Given the description of an element on the screen output the (x, y) to click on. 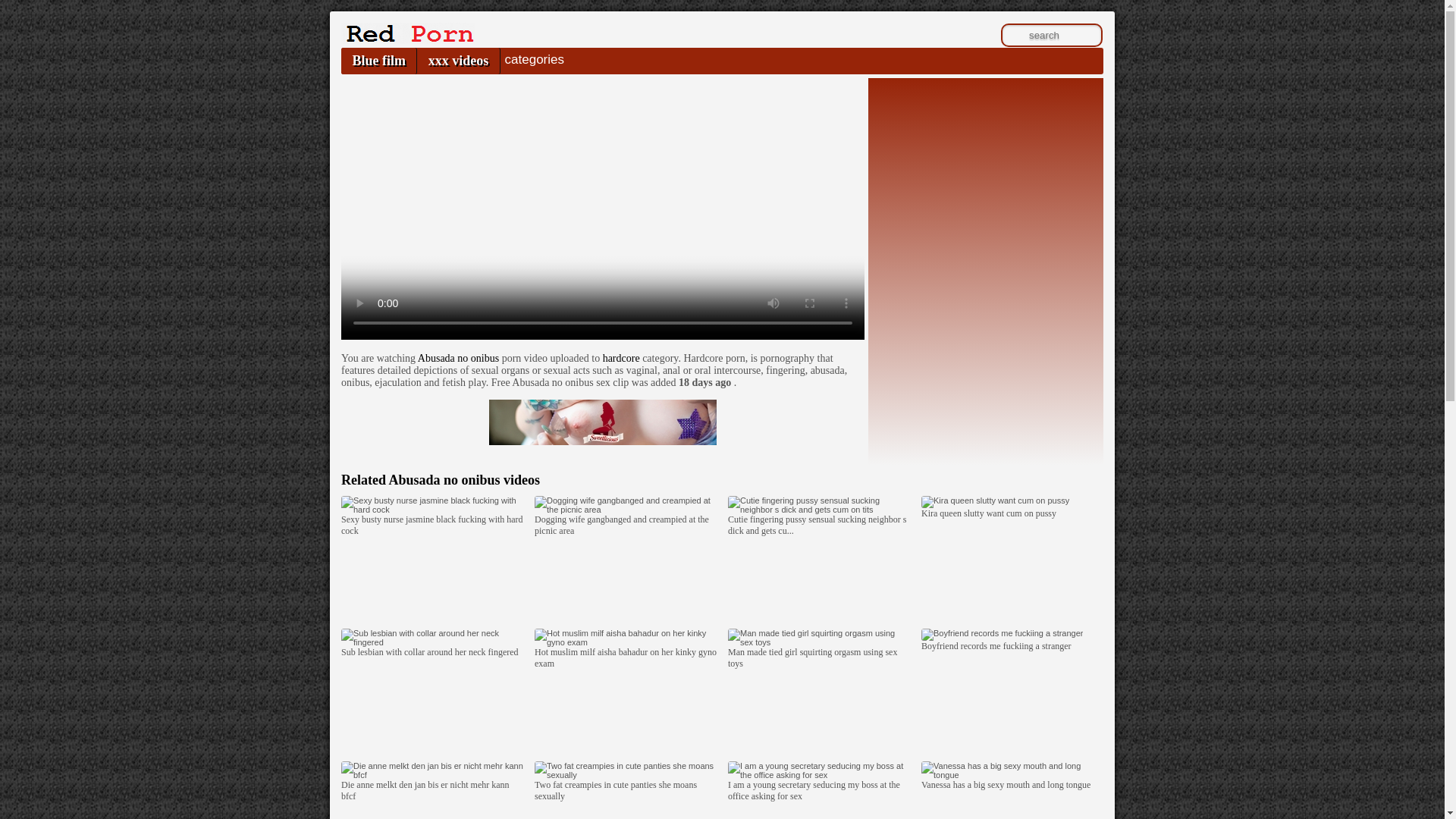
xxx videos (457, 60)
xxx videos (457, 60)
Abusada no onibus (458, 357)
Blue film (378, 60)
Abusada no onibus videos (464, 479)
hardcore (621, 357)
Blue film (378, 60)
Indian Porn (407, 39)
Abusada no onibus (458, 357)
categories (533, 59)
